Given the description of an element on the screen output the (x, y) to click on. 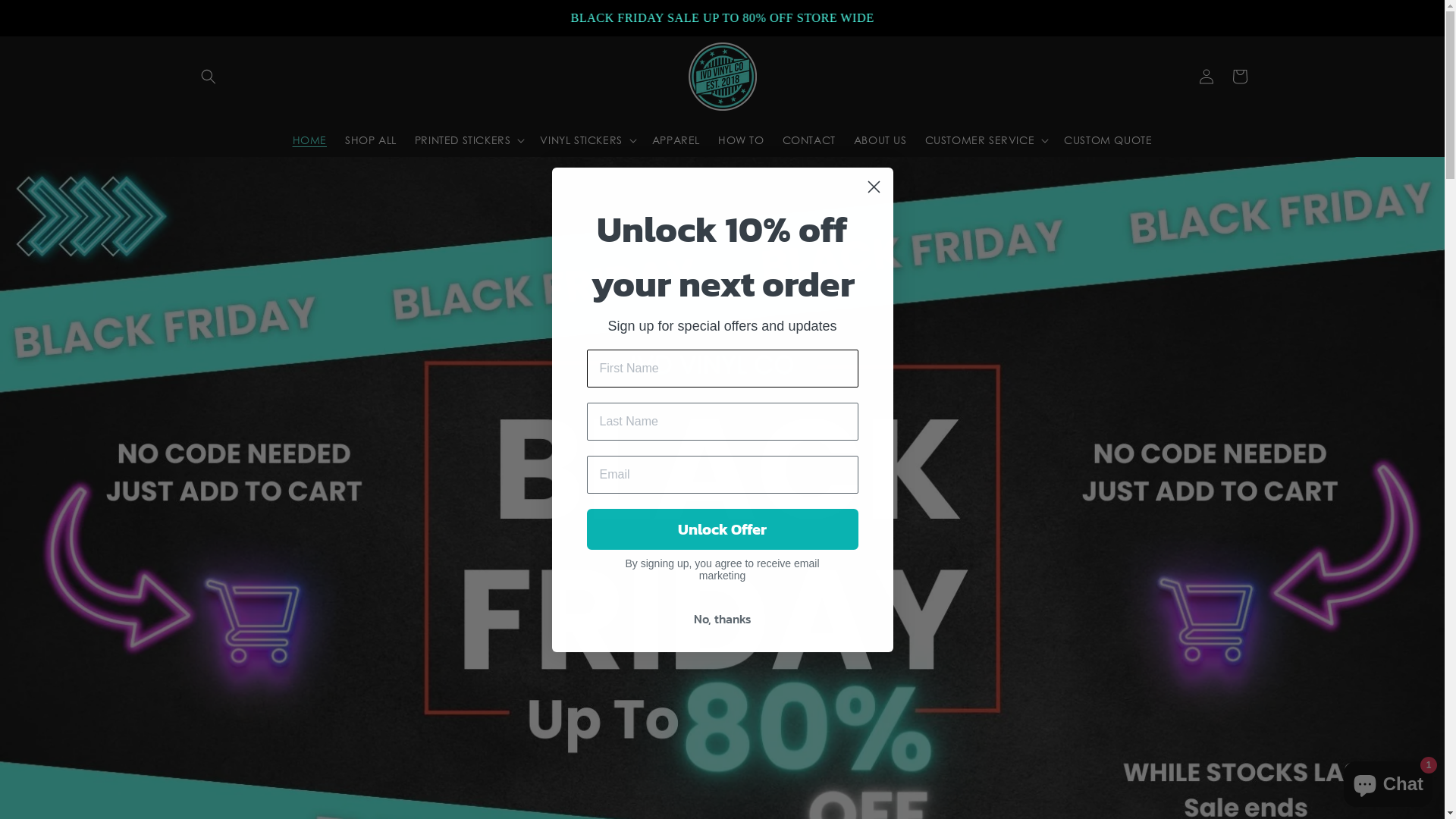
No, thanks Element type: text (722, 617)
Unlock Offer Element type: text (722, 528)
APPAREL Element type: text (676, 140)
SHOP ALL Element type: text (370, 140)
ABOUT US Element type: text (880, 140)
CONTACT Element type: text (808, 140)
HOME Element type: text (309, 140)
Cart Element type: text (1238, 75)
Close dialog 2 Element type: text (872, 185)
Log in Element type: text (1205, 75)
CUSTOM QUOTE Element type: text (1107, 140)
Shopify online store chat Element type: hover (1388, 780)
HOW TO Element type: text (741, 140)
Submit Element type: text (21, 7)
